Given the description of an element on the screen output the (x, y) to click on. 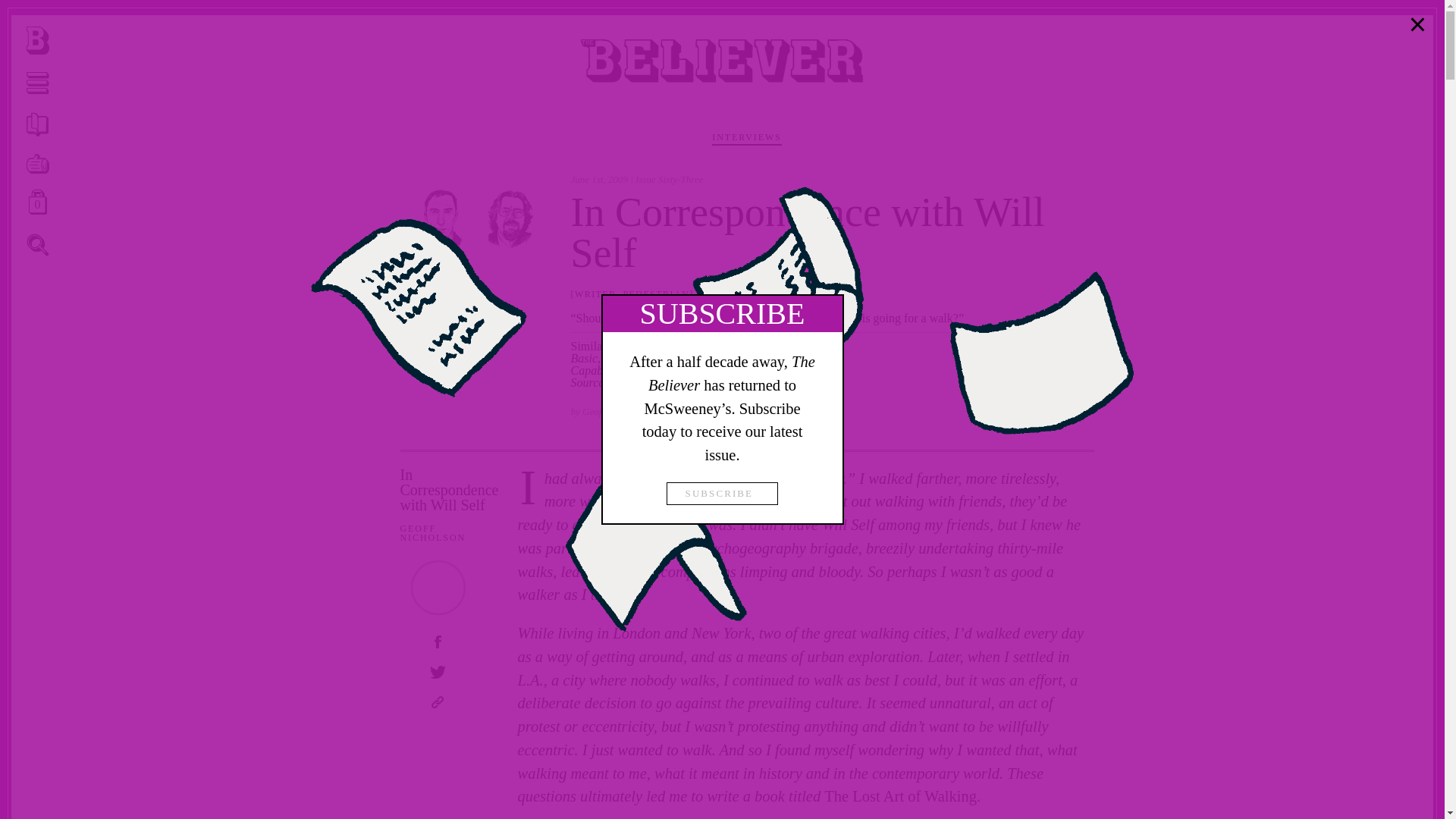
Share on Facebook. (1034, 412)
B (37, 40)
Tweet this! (37, 41)
Close Popup (437, 673)
Discover (1417, 24)
Tweet this! (37, 124)
Search (1058, 412)
logger (37, 245)
shop (37, 244)
hamburger (37, 163)
Share on Facebook. (37, 201)
